Given the description of an element on the screen output the (x, y) to click on. 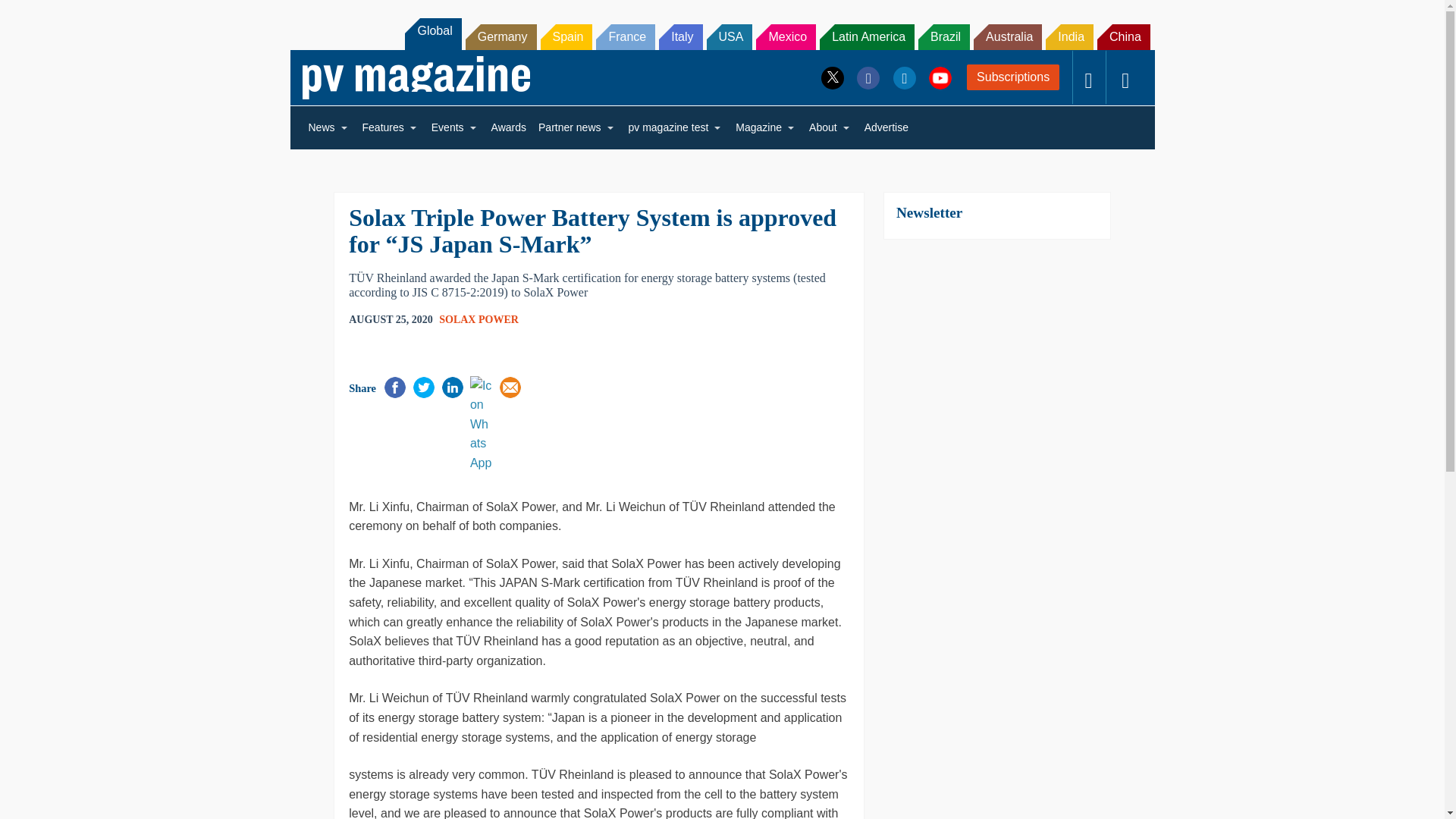
pv magazine - Photovoltaics Markets and Technology (415, 77)
Italy (680, 36)
Search (32, 15)
Germany (501, 36)
Subscriptions (1012, 77)
Mexico (785, 36)
Tuesday, August 25, 2020, 6:53 am (390, 320)
USA (729, 36)
Latin America (866, 36)
Australia (1008, 36)
Spain (566, 36)
France (625, 36)
India (1069, 36)
Global (432, 33)
pv magazine - Photovoltaics Markets and Technology (415, 77)
